Given the description of an element on the screen output the (x, y) to click on. 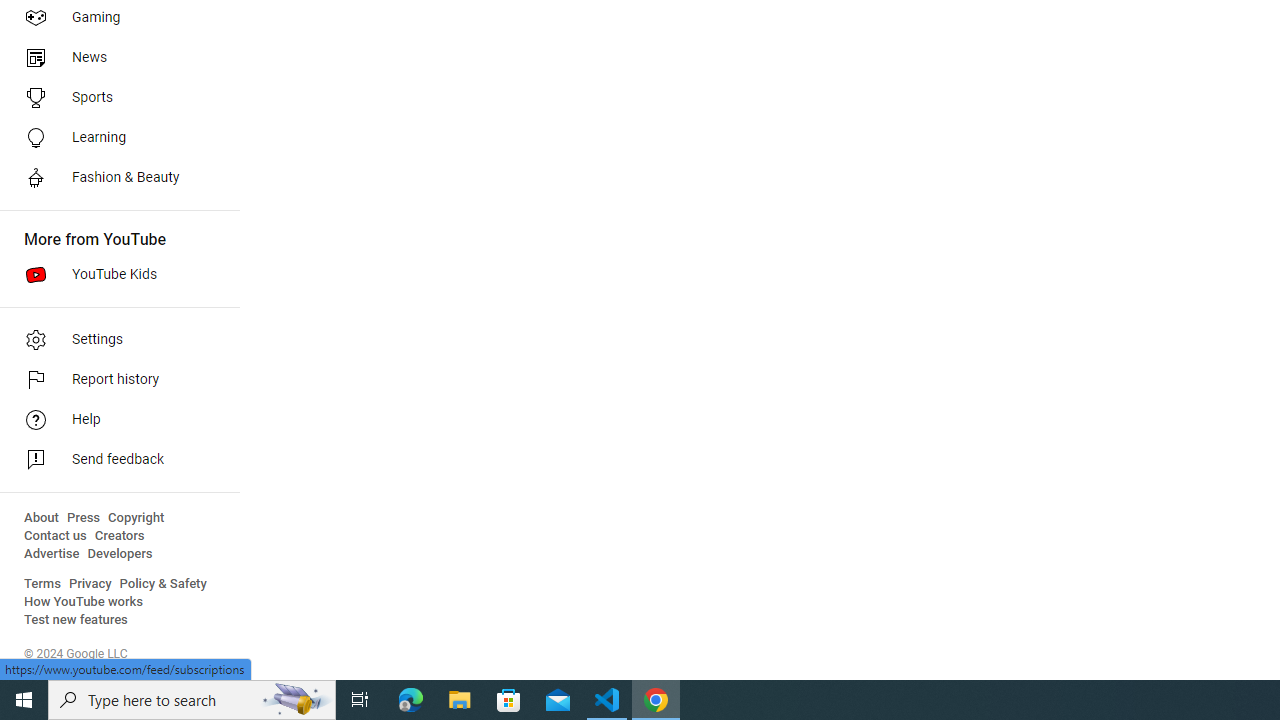
Creators (118, 536)
Advertise (51, 554)
Contact us (55, 536)
About (41, 518)
Sports (113, 97)
Fashion & Beauty (113, 177)
YouTube Kids (113, 274)
Developers (120, 554)
How YouTube works (83, 602)
Send feedback (113, 459)
Test new features (76, 620)
Learning (113, 137)
Policy & Safety (163, 584)
